Given the description of an element on the screen output the (x, y) to click on. 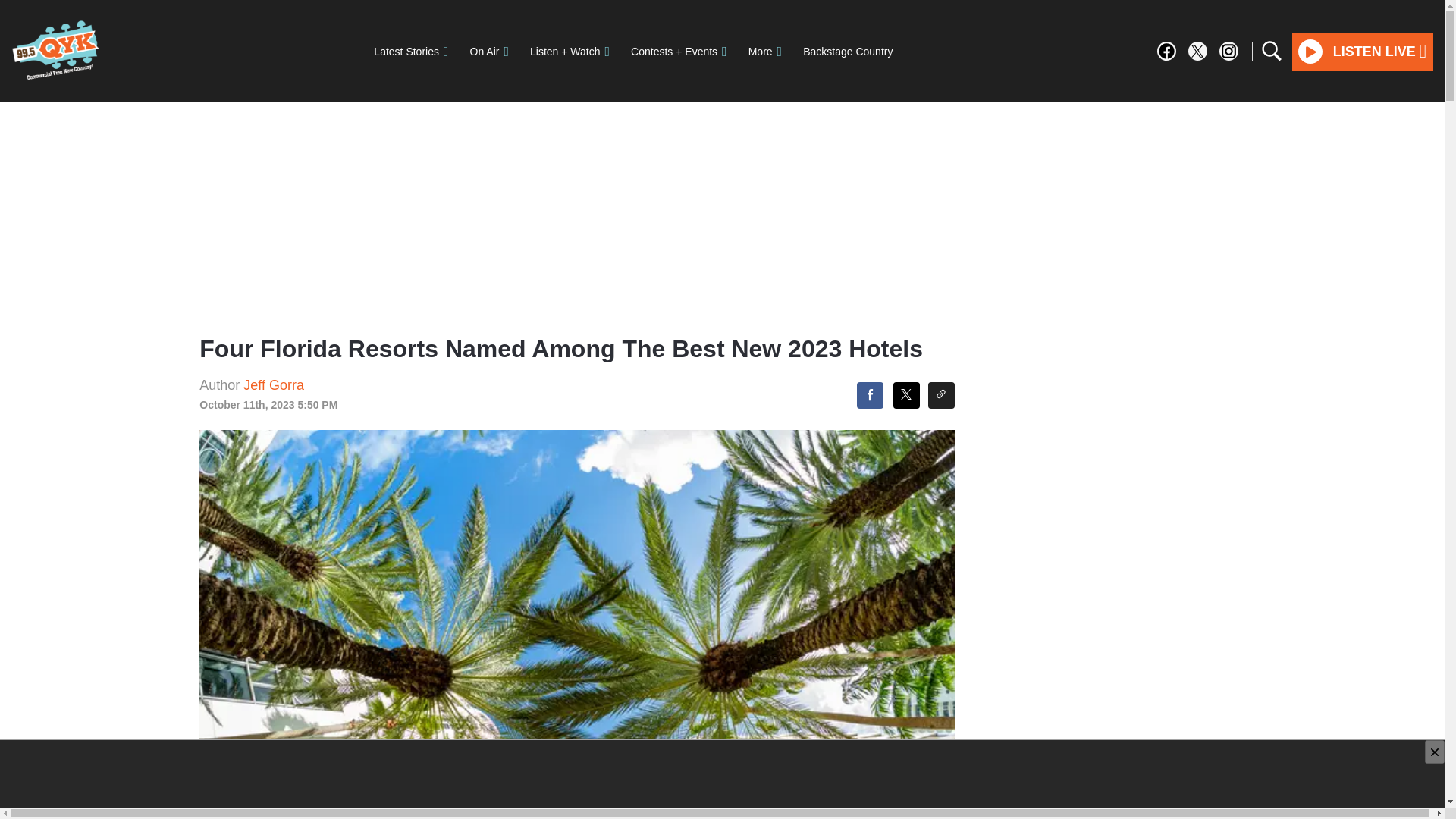
More (765, 51)
Latest Stories (410, 51)
On Air (489, 51)
Jeff Gorra (273, 385)
Close AdCheckmark indicating ad close (1434, 751)
